Given the description of an element on the screen output the (x, y) to click on. 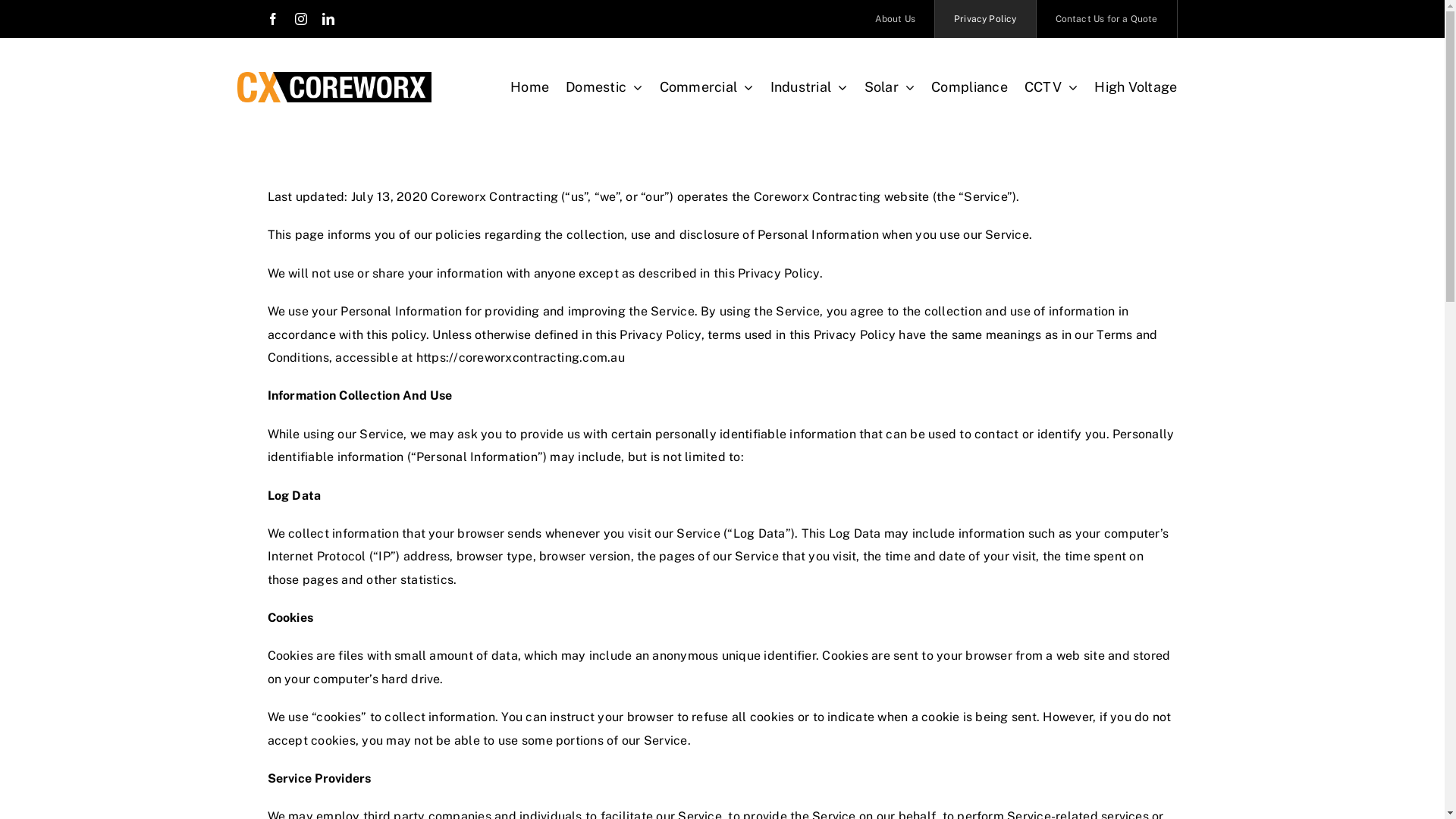
Domestic Element type: text (603, 87)
Commercial Element type: text (706, 87)
Contact Us for a Quote Element type: text (1106, 18)
Privacy Policy Element type: text (985, 18)
Home Element type: text (529, 87)
CCTV Element type: text (1050, 87)
Industrial Element type: text (808, 87)
About Us Element type: text (895, 18)
High Voltage Element type: text (1135, 87)
Solar Element type: text (889, 87)
Compliance Element type: text (969, 87)
